Given the description of an element on the screen output the (x, y) to click on. 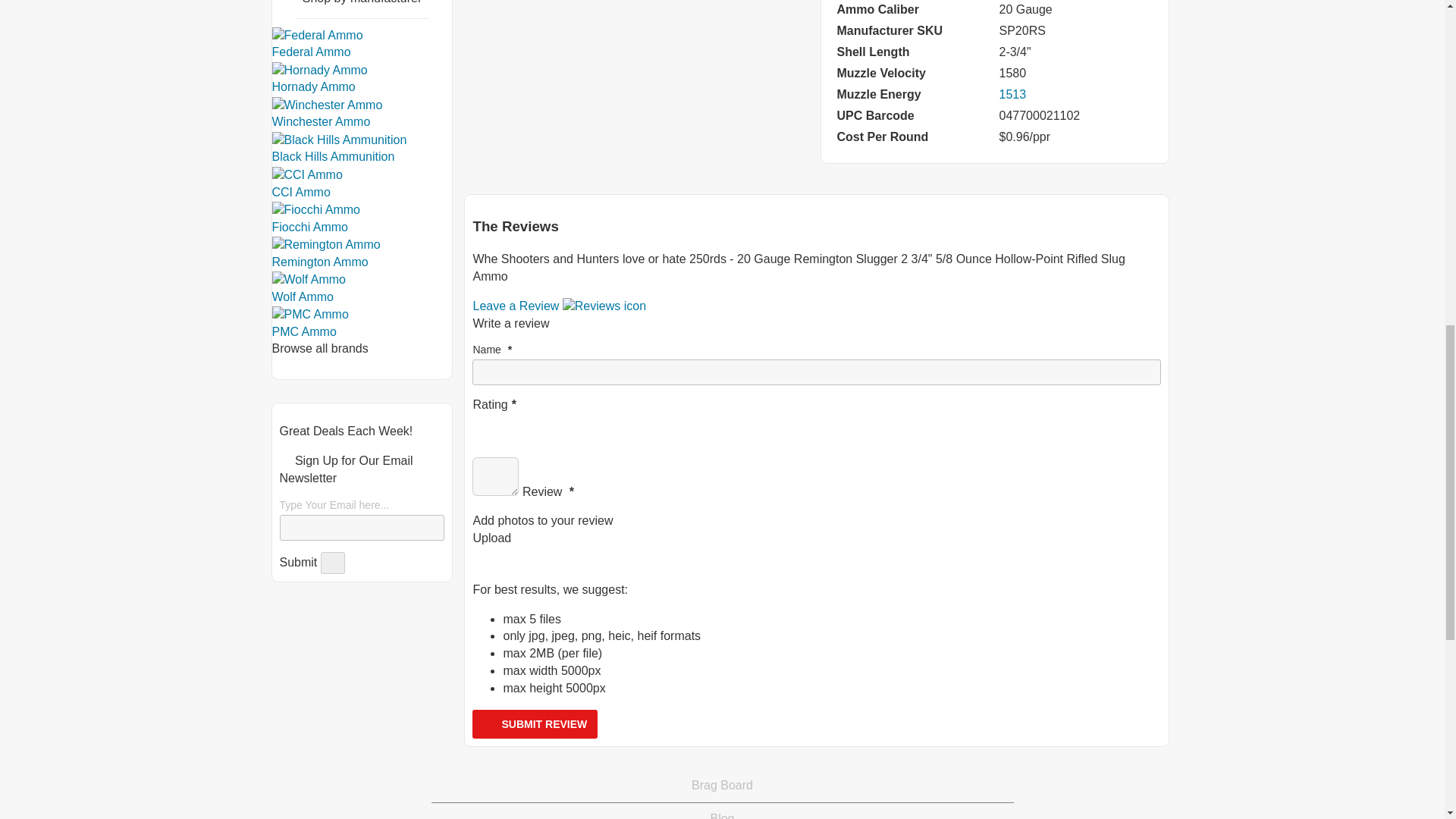
Submit Review (533, 724)
2 (490, 421)
4 (514, 421)
1513 (1012, 93)
SUBMIT REVIEW (533, 724)
Leave a Review (558, 305)
1 (477, 421)
5 (526, 421)
3 (502, 421)
